Given the description of an element on the screen output the (x, y) to click on. 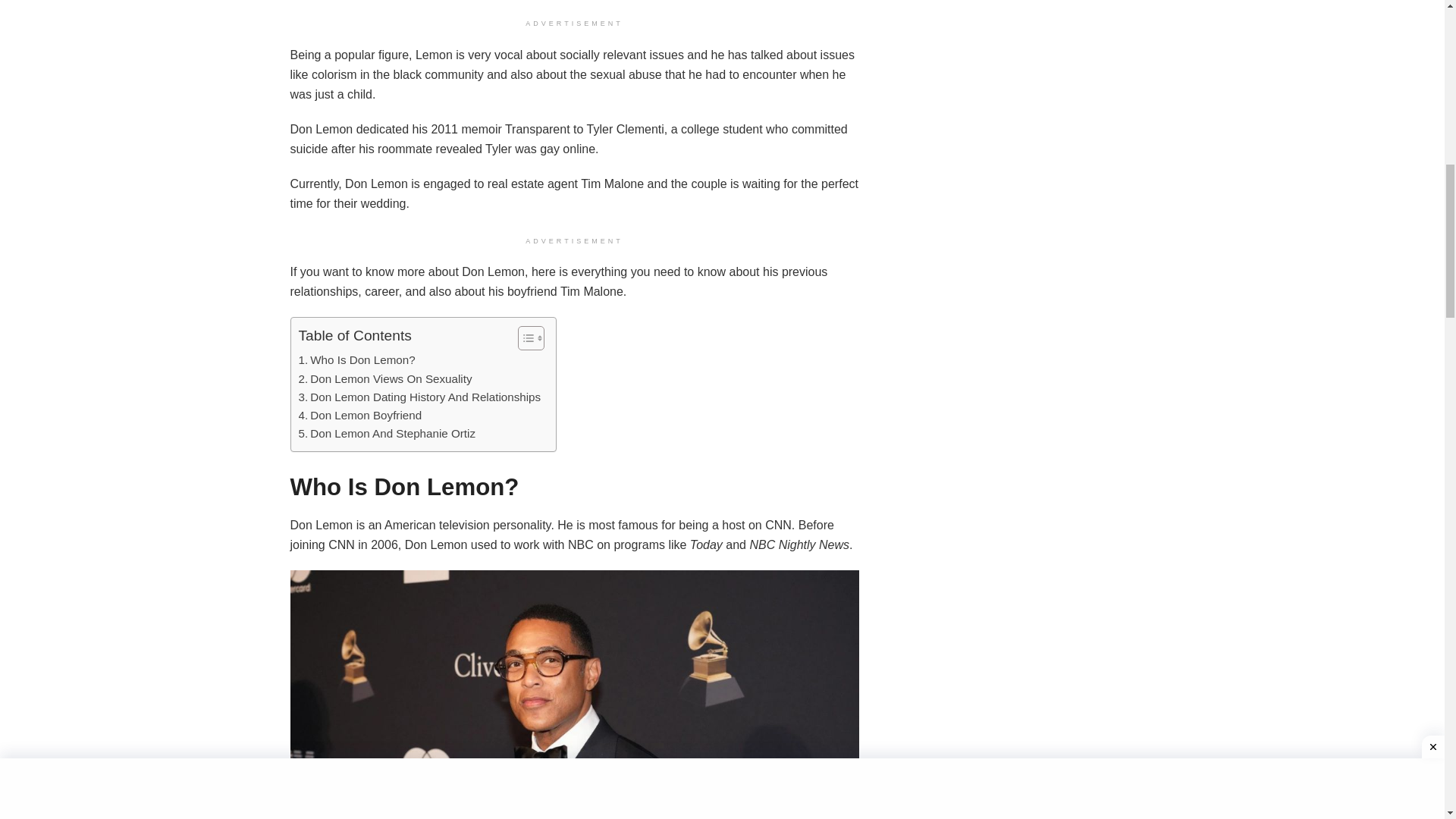
Don Lemon And Stephanie Ortiz (387, 434)
Don Lemon And Stephanie Ortiz (387, 434)
Don Lemon Views On Sexuality (384, 379)
Don Lemon Views On Sexuality (384, 379)
Don Lemon Dating History And Relationships (419, 397)
Don Lemon Boyfriend (360, 415)
Don Lemon Boyfriend (360, 415)
Who Is Don Lemon? (356, 360)
Who Is Don Lemon? (356, 360)
Don Lemon Dating History And Relationships (419, 397)
